Given the description of an element on the screen output the (x, y) to click on. 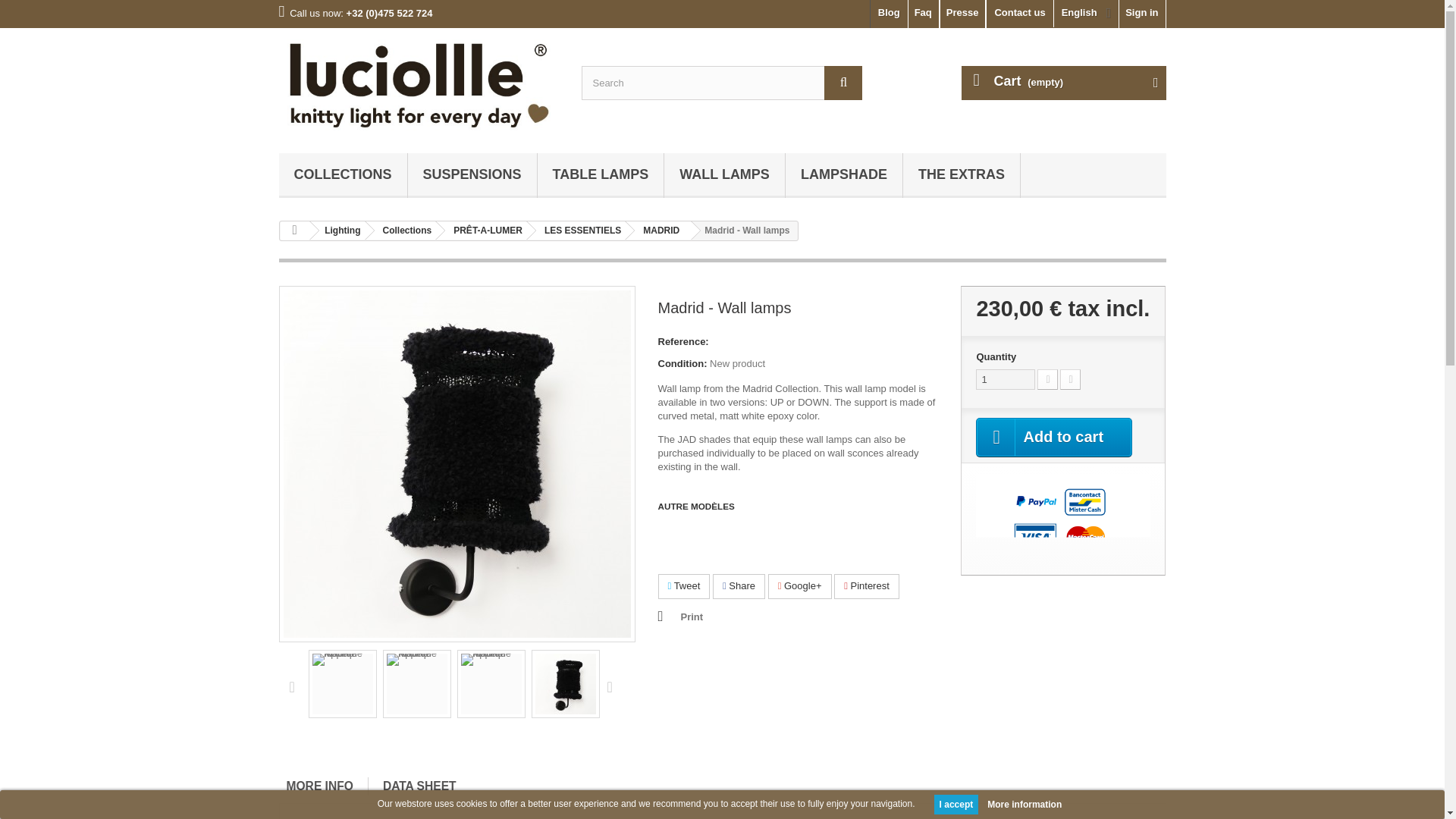
luciollle - Noir de Monde (419, 86)
View my shopping cart (1063, 82)
More information (1024, 804)
Presse (962, 13)
WALL LAMPS (723, 175)
Faq (923, 13)
LAMPSHADE (844, 175)
Blog (888, 13)
Log in to your customer account (1141, 13)
1 (1005, 379)
TABLE LAMPS (600, 175)
COLLECTIONS (343, 175)
Collections (343, 175)
Sign in (1141, 13)
Faq (923, 13)
